Given the description of an element on the screen output the (x, y) to click on. 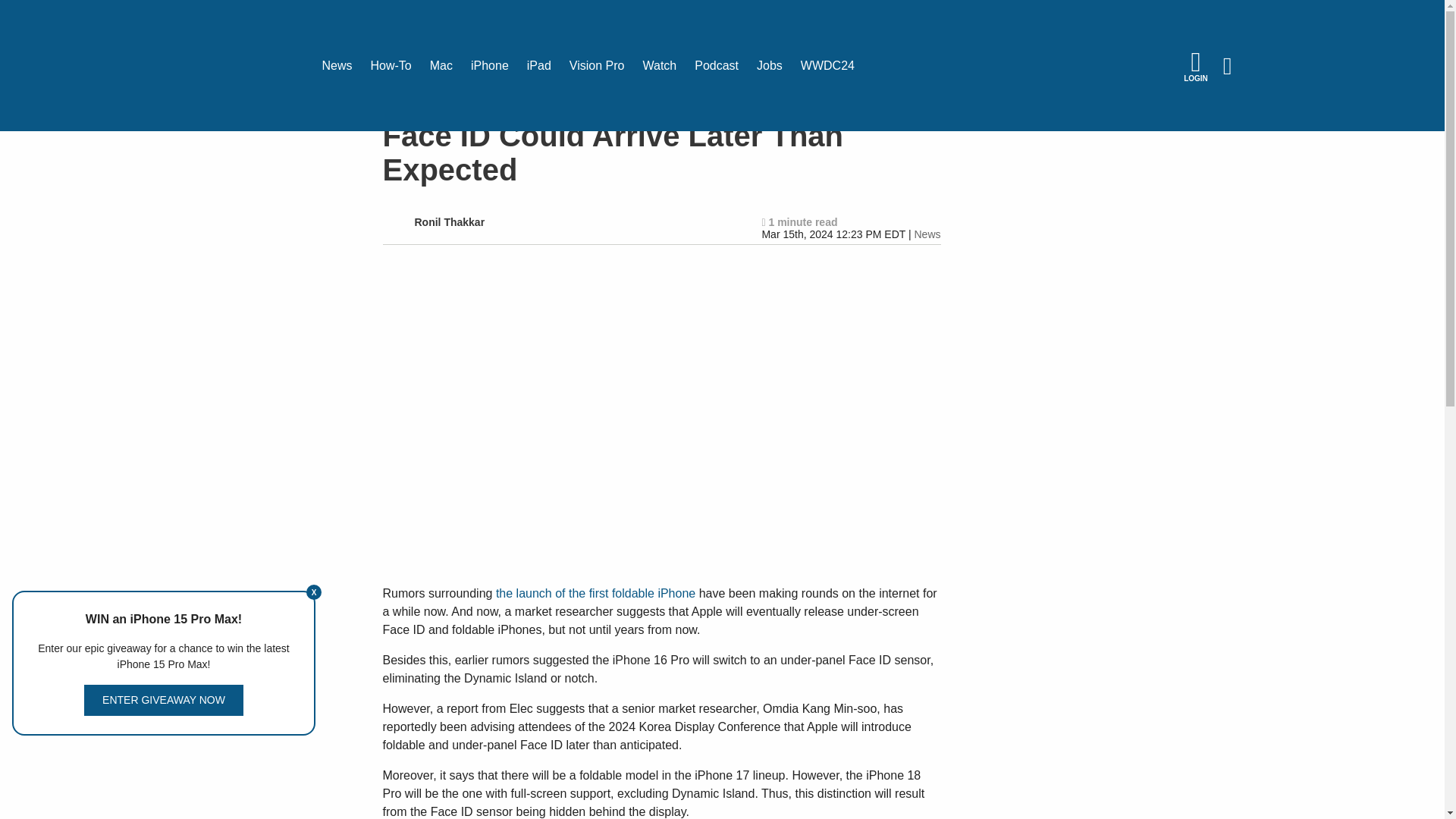
News (927, 234)
the launch of the first foldable iPhone (595, 593)
